Given the description of an element on the screen output the (x, y) to click on. 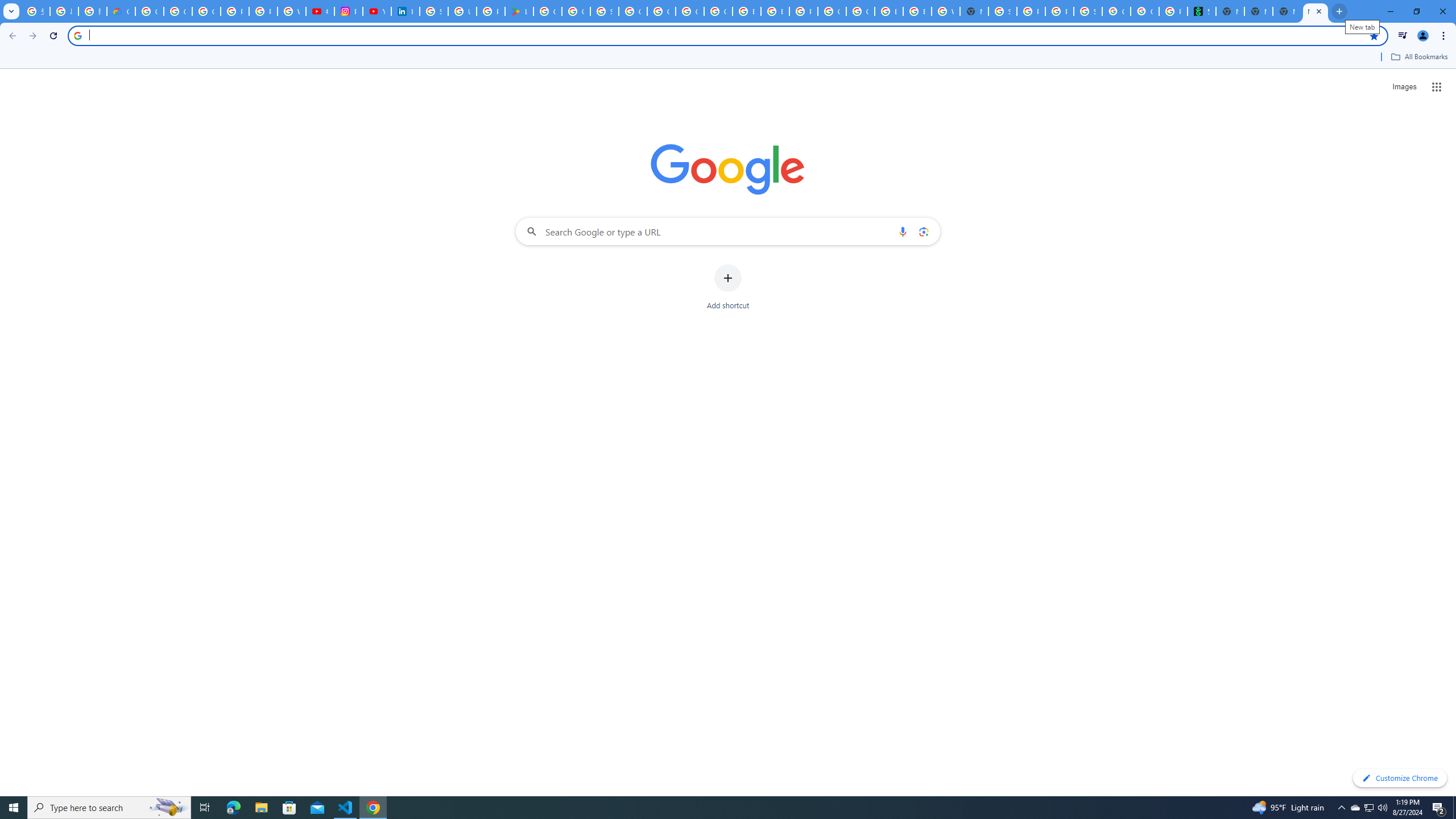
Bookmarks (728, 58)
Google Cloud Platform (860, 11)
Google Cloud Platform (661, 11)
